Given the description of an element on the screen output the (x, y) to click on. 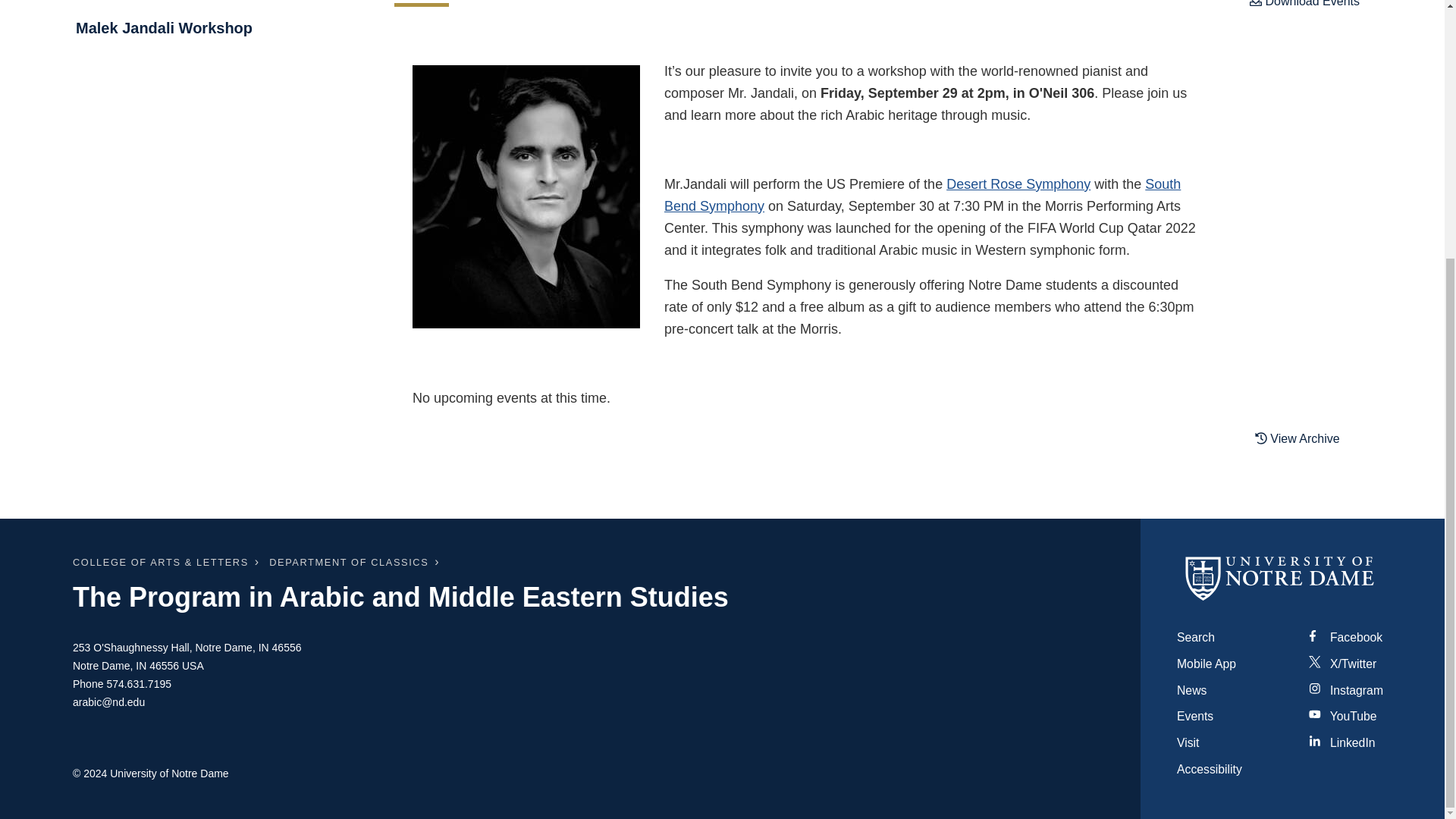
South Bend Symphony (921, 194)
View Archive (1307, 437)
Malek Jandali Workshop (218, 26)
Desert Rose Symphony (1018, 183)
Arabic Calligraphy Workshop a Success (218, 3)
DEPARTMENT OF CLASSICS (348, 562)
Download Events (1304, 8)
The Program in Arabic and Middle Eastern Studies (400, 596)
